Given the description of an element on the screen output the (x, y) to click on. 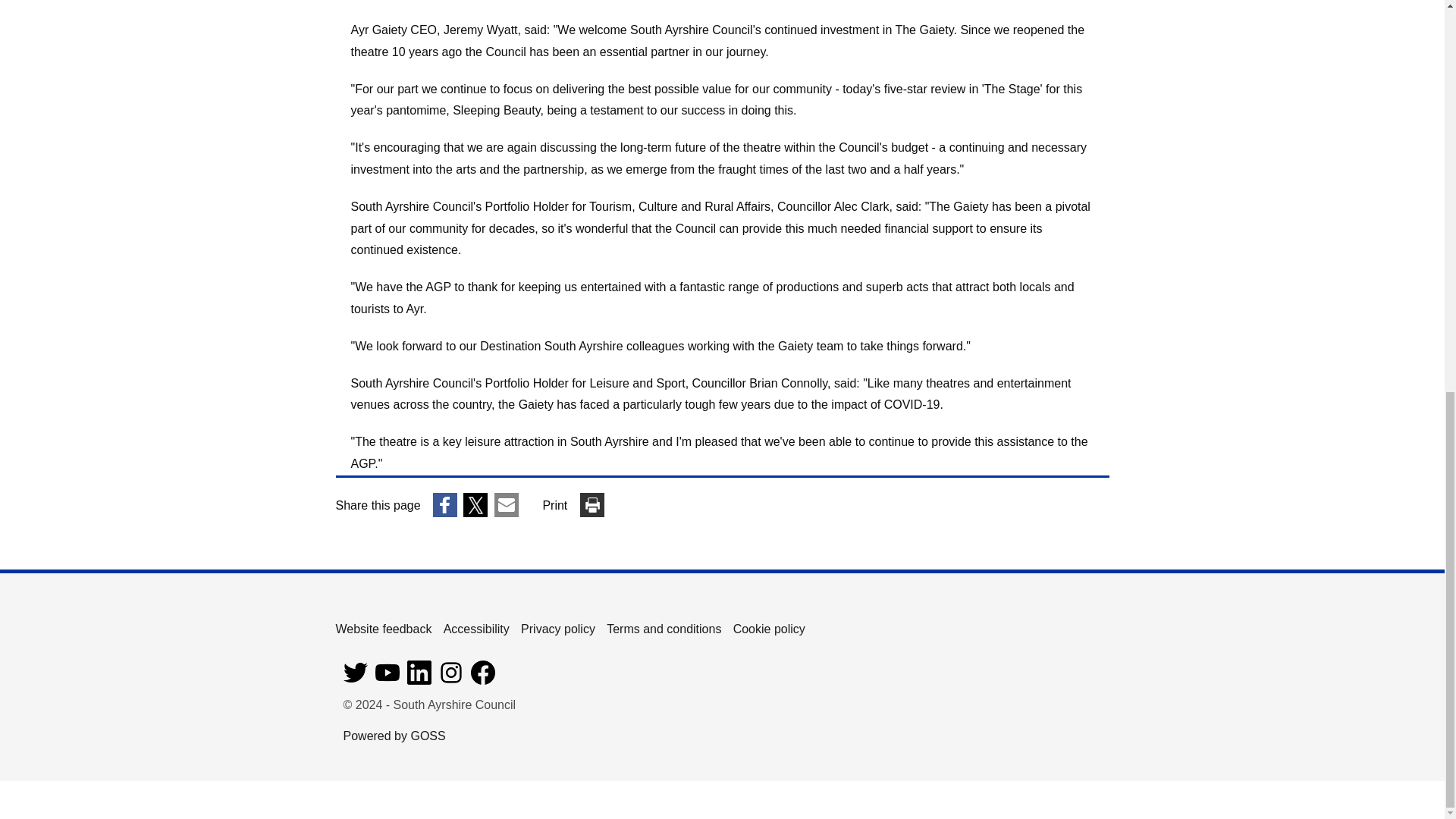
South Ayrshire Council on Twitter (354, 680)
South Ayrshire Council on Youtube (386, 680)
South Ayrshire Council on LinkedIn (418, 680)
South Ayrshire Council on Facebook (482, 680)
South Ayrshire Council on Instagram (450, 680)
